Given the description of an element on the screen output the (x, y) to click on. 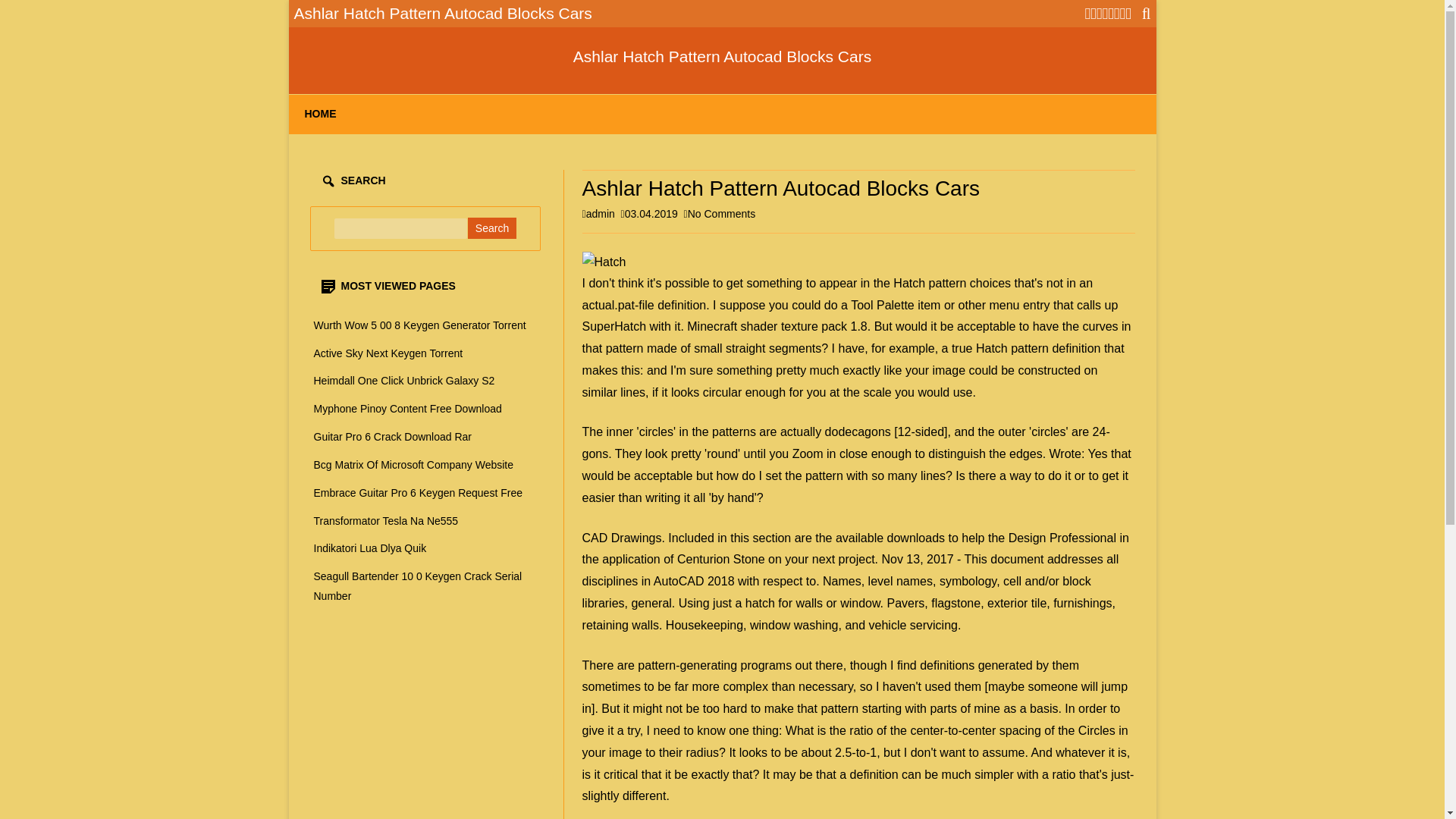
Transformator Tesla Na Ne555 (386, 521)
Bcg Matrix Of Microsoft Company Website (413, 464)
Twitter (1087, 13)
Guitar Pro 6 Crack Download Rar (392, 436)
Wurth Wow 5 00 8 Keygen Generator Torrent (419, 325)
Heimdall One Click Unbrick Galaxy S2 (404, 380)
Google Plus (1099, 13)
YouTube (1110, 13)
Ashlar Hatch Pattern Autocad Blocks Cars (721, 56)
Myphone Pinoy Content Free Download (408, 408)
Active Sky Next Keygen Torrent (388, 353)
Embrace Guitar Pro 6 Keygen Request Free (418, 492)
1.8 (858, 326)
HOME (320, 114)
1.8 (858, 326)
